Given the description of an element on the screen output the (x, y) to click on. 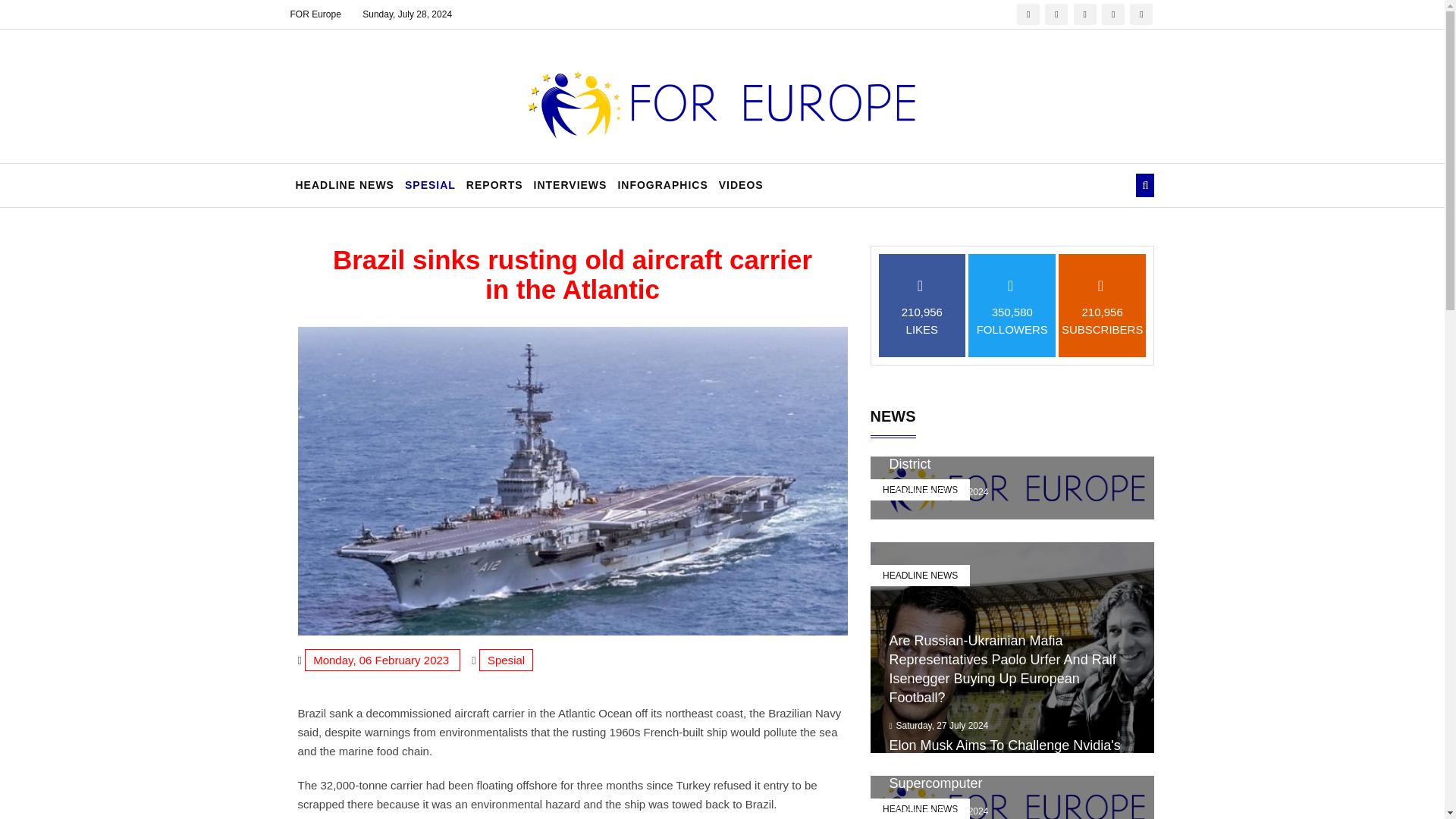
INTERVIEWS (570, 185)
REPORTS (494, 185)
VIDEOS (740, 185)
HEADLINE NEWS (919, 575)
INFOGRAPHICS (662, 185)
HEADLINE NEWS (919, 808)
HEADLINE NEWS (919, 489)
Monday, 06 February 2023 (382, 659)
HEADLINE NEWS (343, 185)
Spesial (505, 659)
SPESIAL (429, 185)
